Given the description of an element on the screen output the (x, y) to click on. 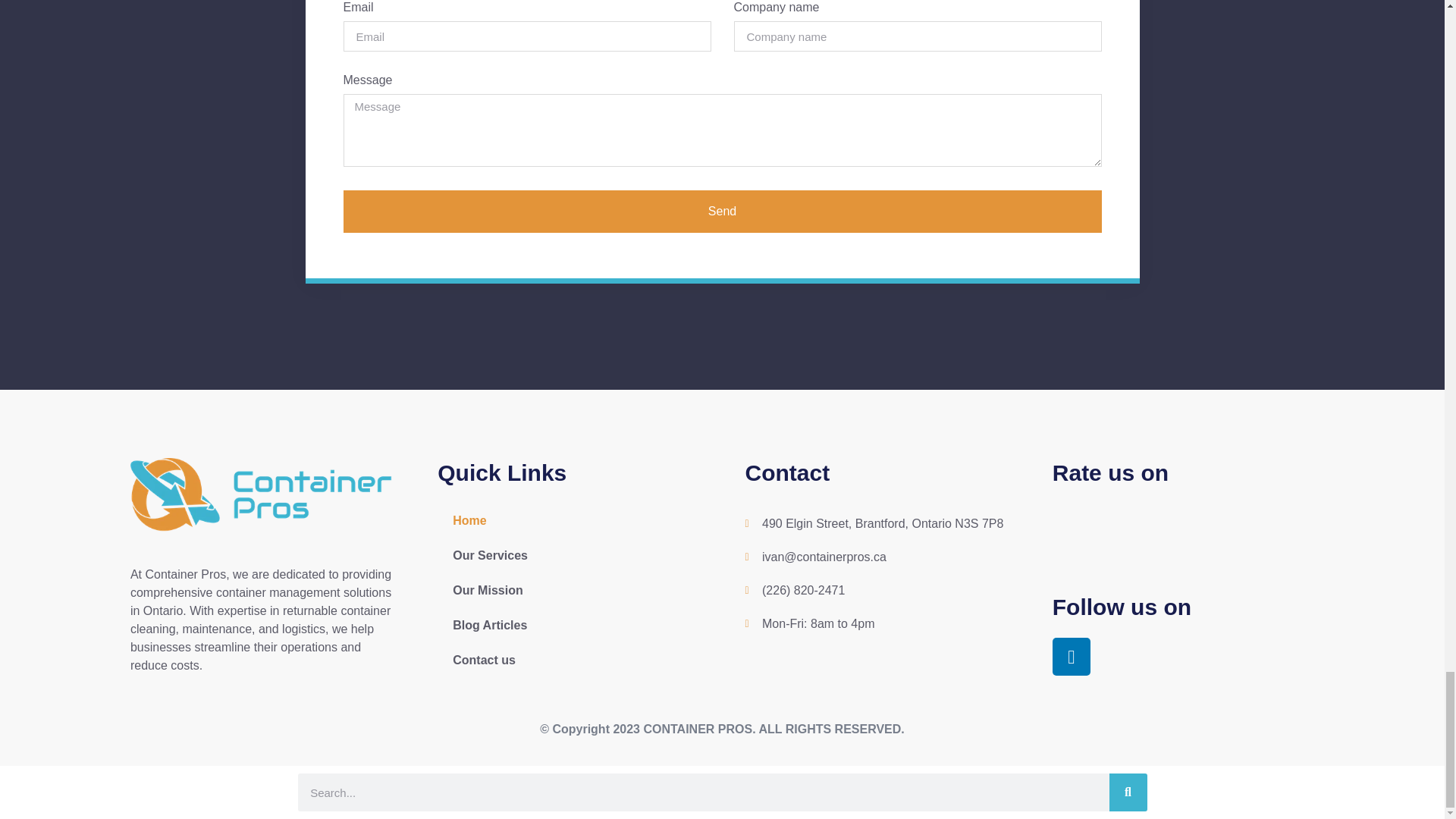
Contact us (568, 660)
Our Services (568, 555)
Blog Articles (568, 625)
Home (568, 520)
Our Mission (568, 590)
Send (721, 211)
